Given the description of an element on the screen output the (x, y) to click on. 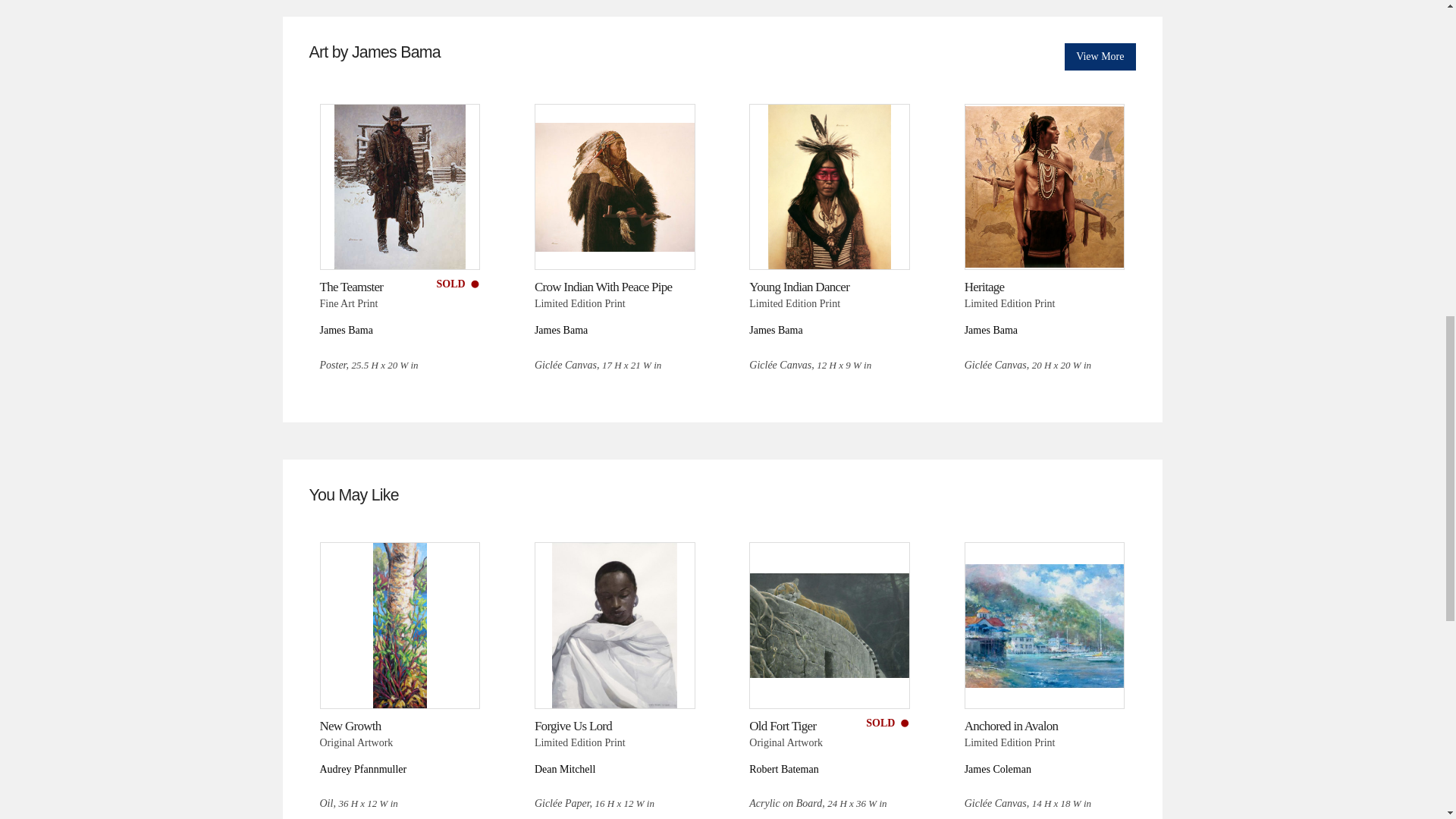
The Teamster (352, 287)
View More (1099, 56)
Crow Indian With Peace Pipe (603, 287)
